Given the description of an element on the screen output the (x, y) to click on. 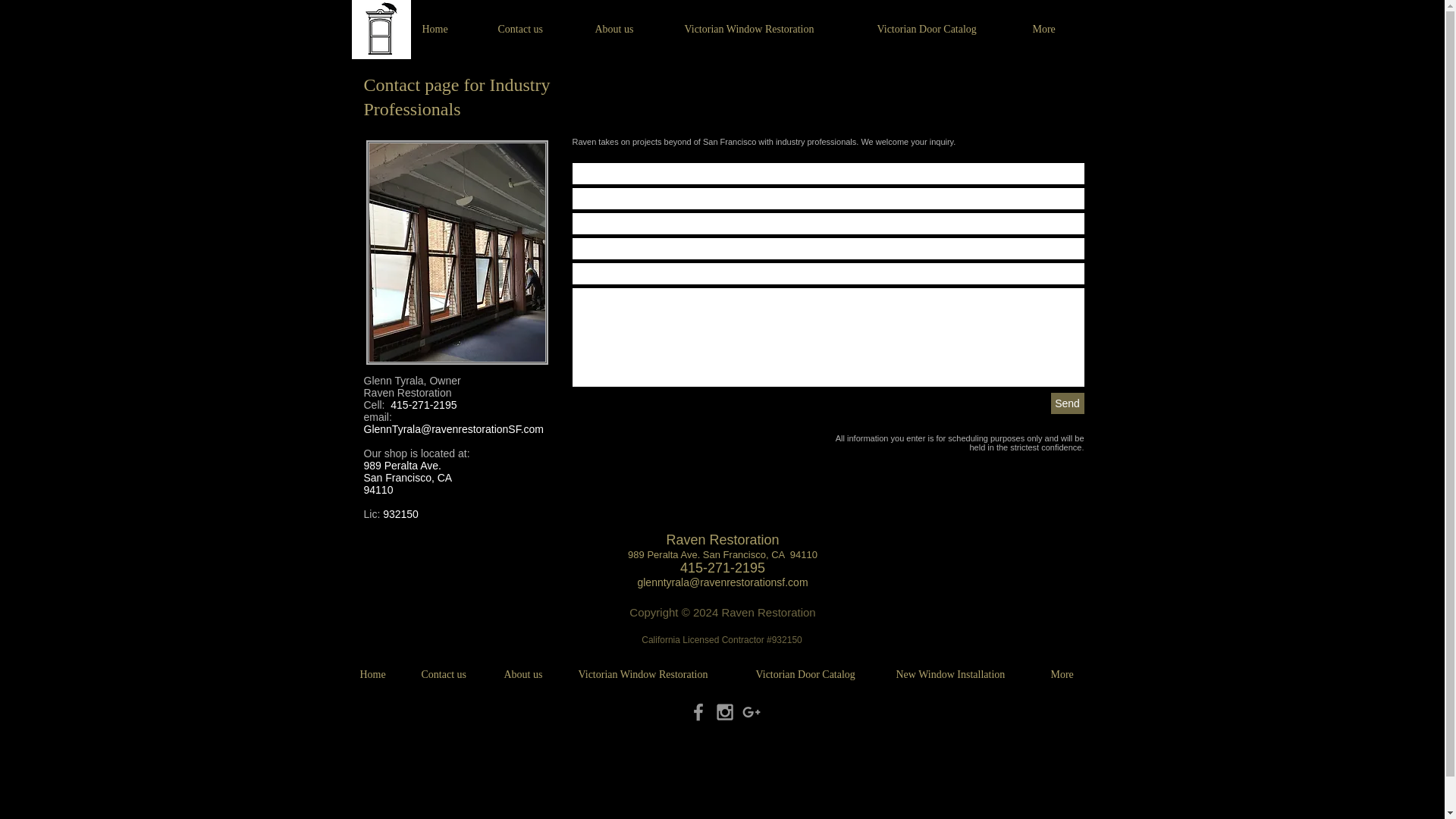
Victorian Door Catalog (944, 29)
New Window Installation (961, 674)
Victorian Window Restoration (655, 674)
About us (627, 29)
Raven Restoration (721, 539)
Victorian Door Catalog (814, 674)
Contact us (534, 29)
Victorian Window Restoration (769, 29)
Send (1067, 403)
Contact us (450, 674)
